Given the description of an element on the screen output the (x, y) to click on. 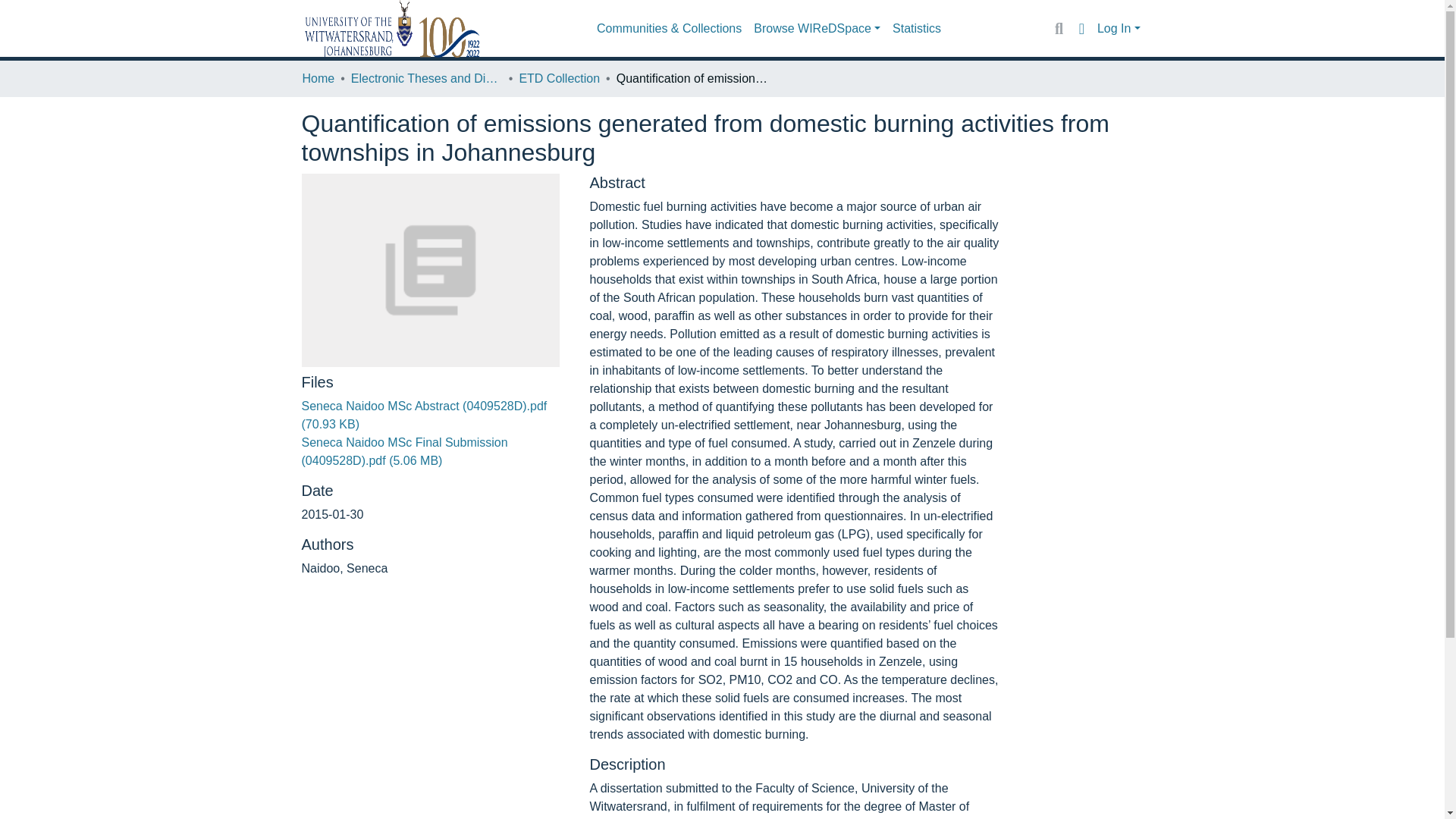
Browse WIReDSpace (817, 28)
Log In (1118, 28)
Language switch (1081, 28)
ETD Collection (558, 78)
Statistics (916, 28)
Statistics (916, 28)
Home (317, 78)
Search (1058, 28)
